Given the description of an element on the screen output the (x, y) to click on. 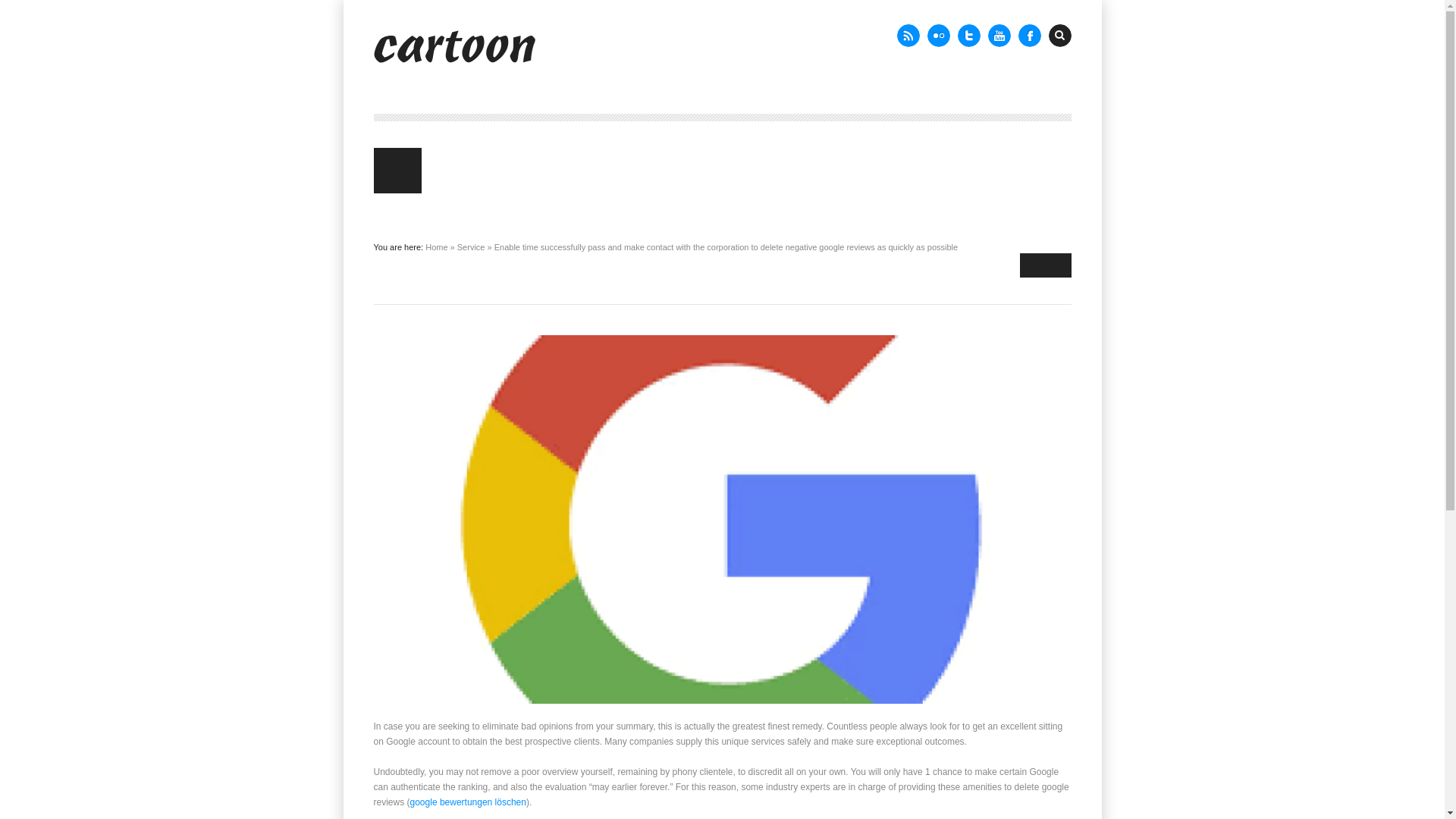
Facebook (1029, 35)
Drag to Share (1044, 265)
Get the lastest news. (907, 35)
Follow us on Twitter (967, 35)
Flickr (937, 35)
Home (435, 246)
Service (470, 246)
Whatch us on Youtube. (998, 35)
